Given the description of an element on the screen output the (x, y) to click on. 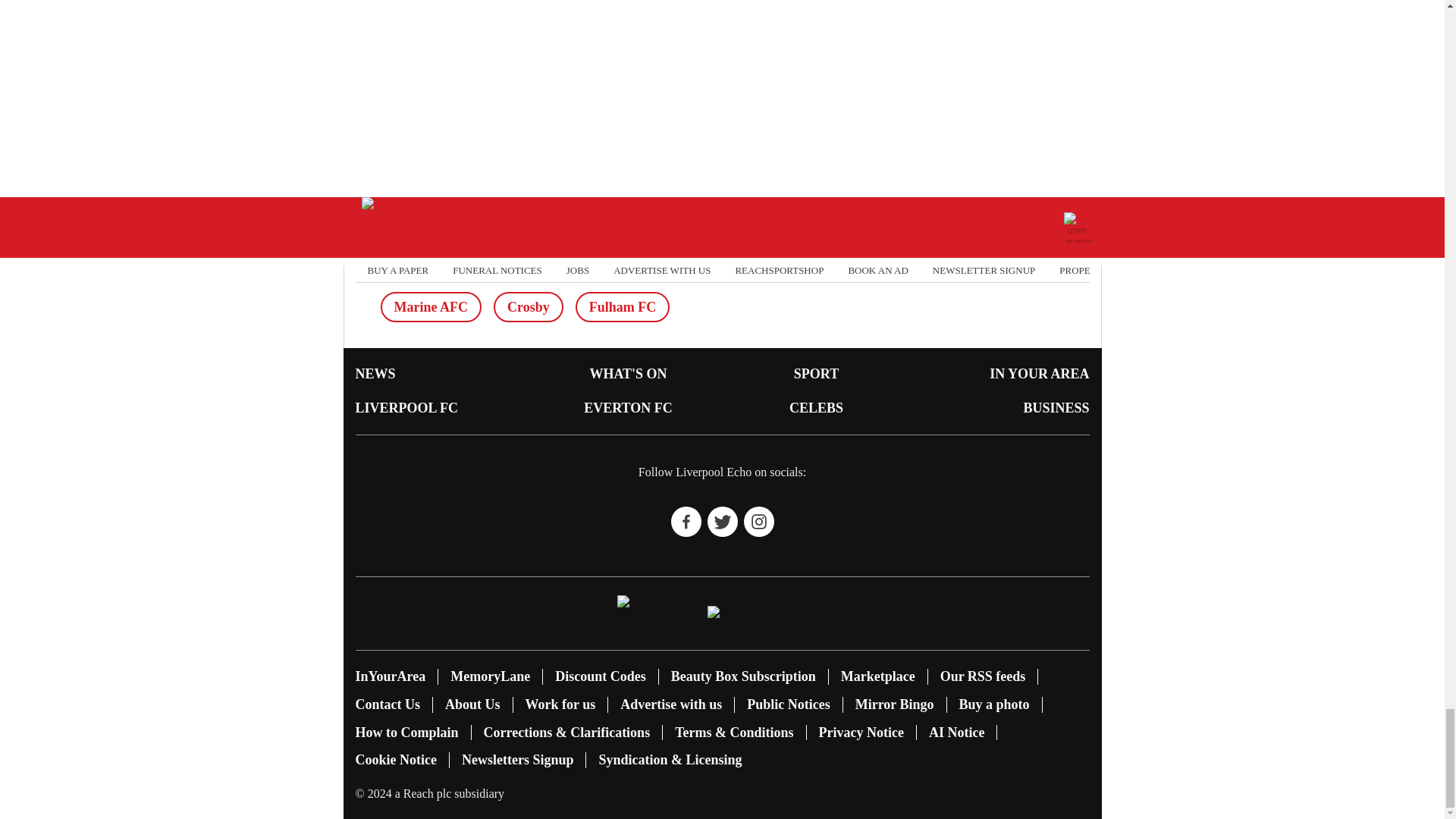
NEWS (374, 373)
Fulham FC (622, 306)
SPORT (815, 373)
Crosby (528, 306)
WHAT'S ON (627, 373)
Marine AFC (430, 306)
